Given the description of an element on the screen output the (x, y) to click on. 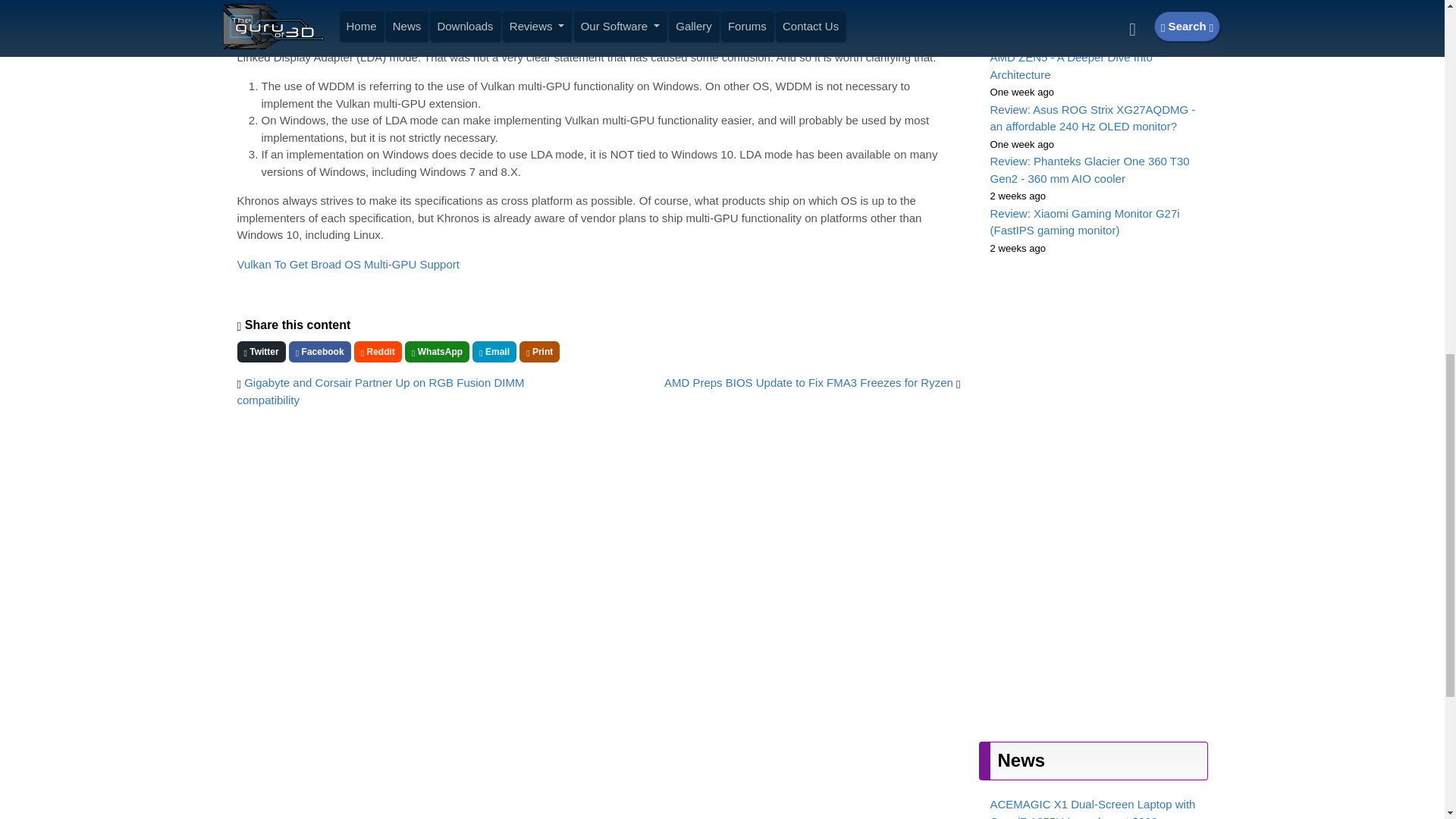
Vulkan To Get Broad OS Multi-GPU Support (346, 264)
Facebook (319, 351)
Reddit (377, 351)
Twitter (260, 351)
